Given the description of an element on the screen output the (x, y) to click on. 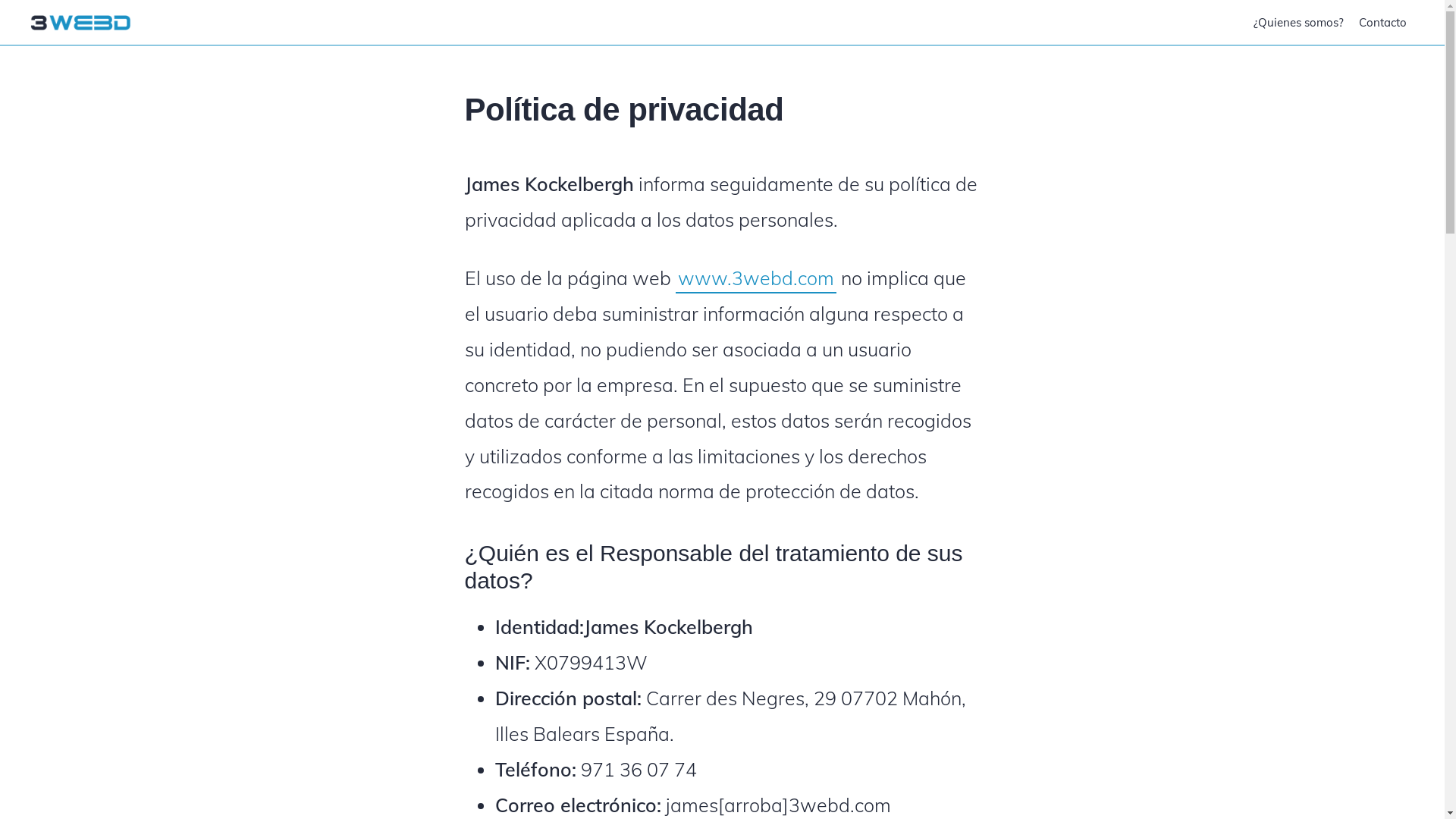
www.3webd.com Element type: text (754, 278)
Aviso Legal Element type: text (727, 802)
3 WEBD Element type: text (80, 22)
Contacto Element type: text (1382, 22)
